Given the description of an element on the screen output the (x, y) to click on. 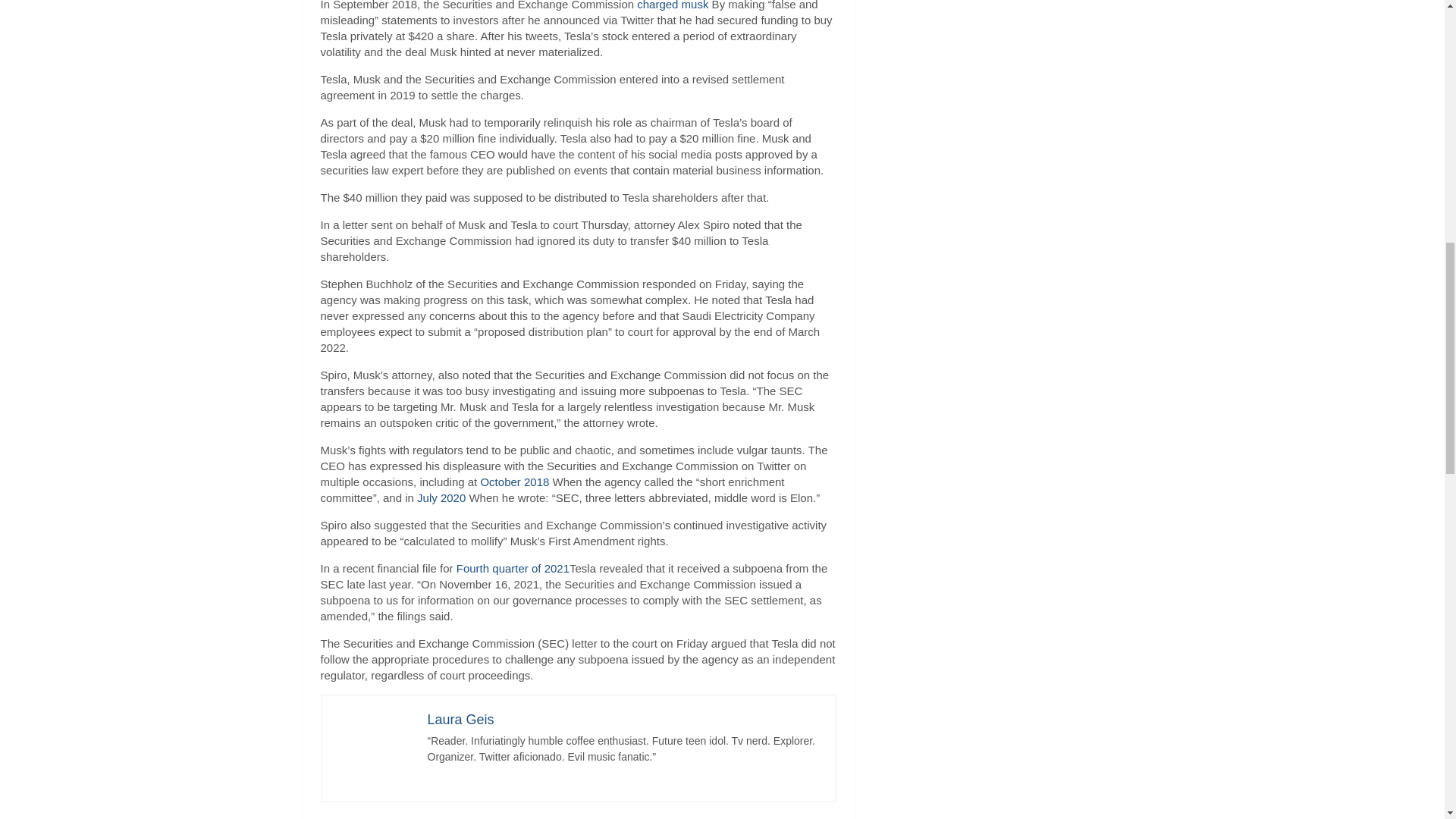
Laura Geis (461, 719)
charged musk (672, 5)
October 2018 (514, 481)
Fourth quarter of 2021 (513, 567)
July 2020 (440, 497)
